Given the description of an element on the screen output the (x, y) to click on. 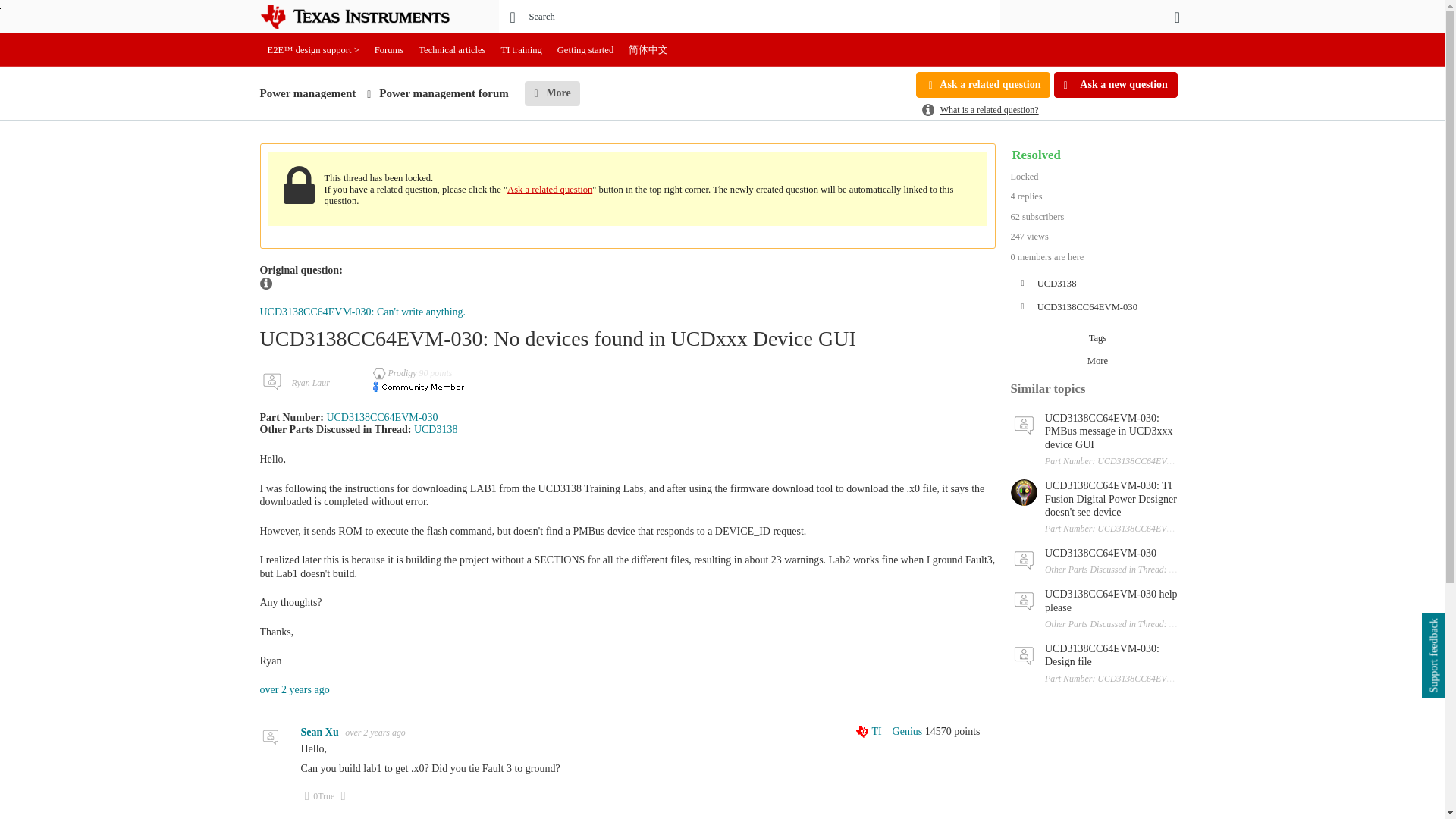
Click here for explanation of levels (395, 372)
Home (365, 16)
Link to Tool Folder (382, 417)
TI training (521, 49)
Click here for explanation of levels (890, 731)
Forums (389, 49)
Getting started (585, 49)
Technical articles (451, 49)
Link to Product Folder (435, 429)
User (1177, 17)
